Given the description of an element on the screen output the (x, y) to click on. 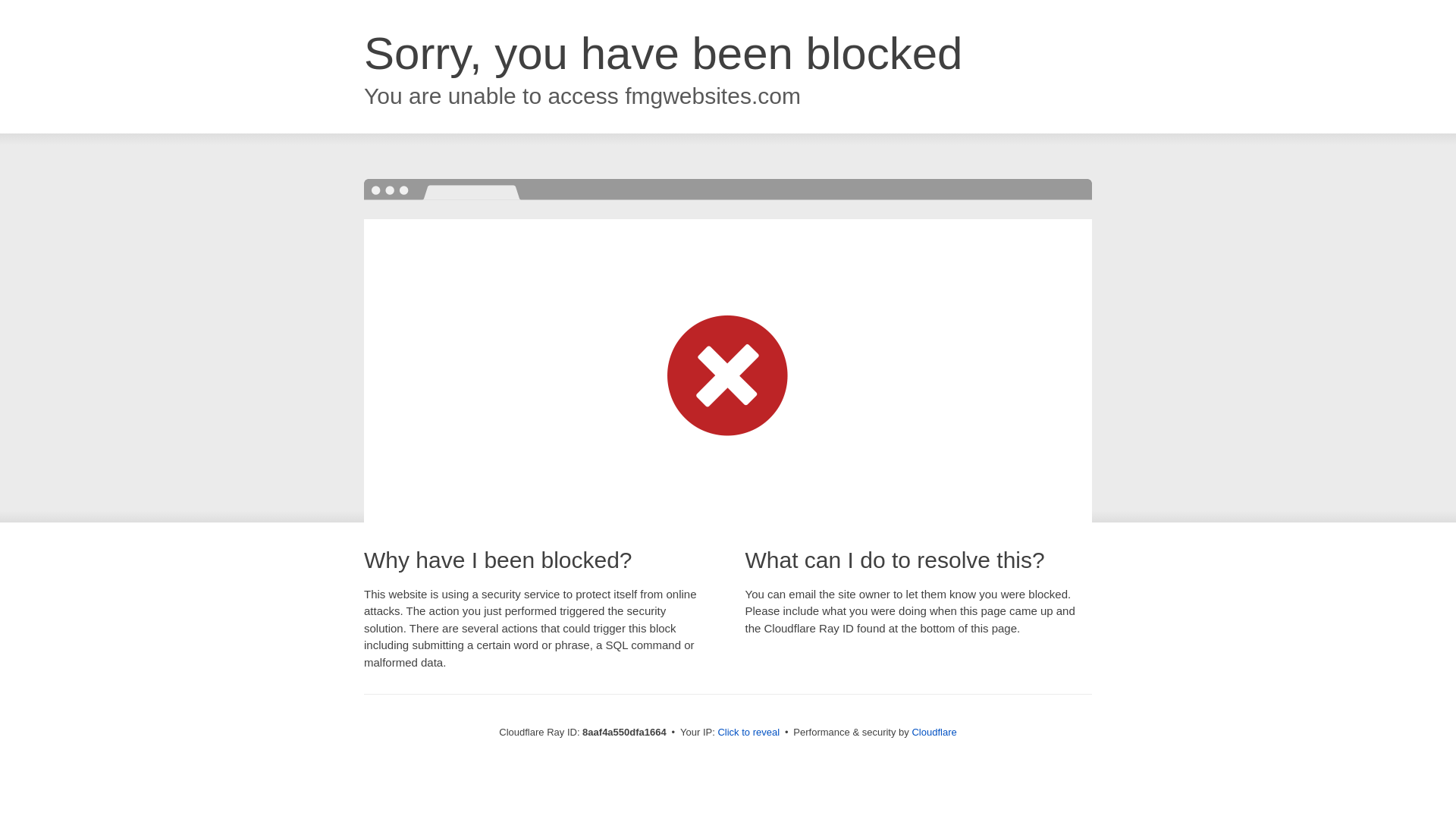
Click to reveal (747, 732)
Cloudflare (933, 731)
